Given the description of an element on the screen output the (x, y) to click on. 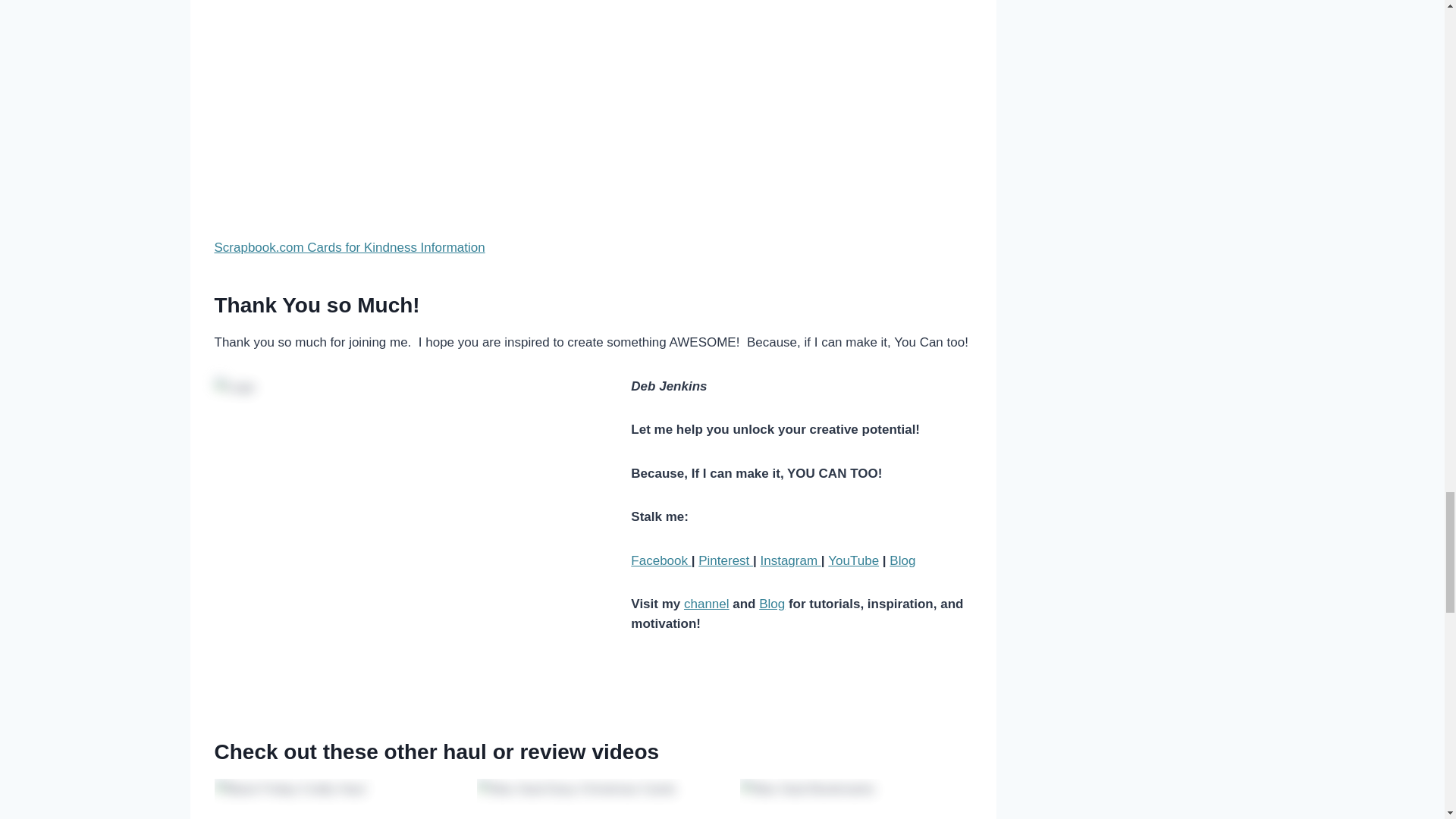
channel (706, 603)
Blog (902, 560)
Pinterest  (725, 560)
YouTube (853, 560)
Scrapbook.com Cards for Kindness Information (349, 247)
Facebook  (660, 560)
BLACK FRIDAY HAUL 2021 (593, 106)
Instagram  (790, 560)
